Given the description of an element on the screen output the (x, y) to click on. 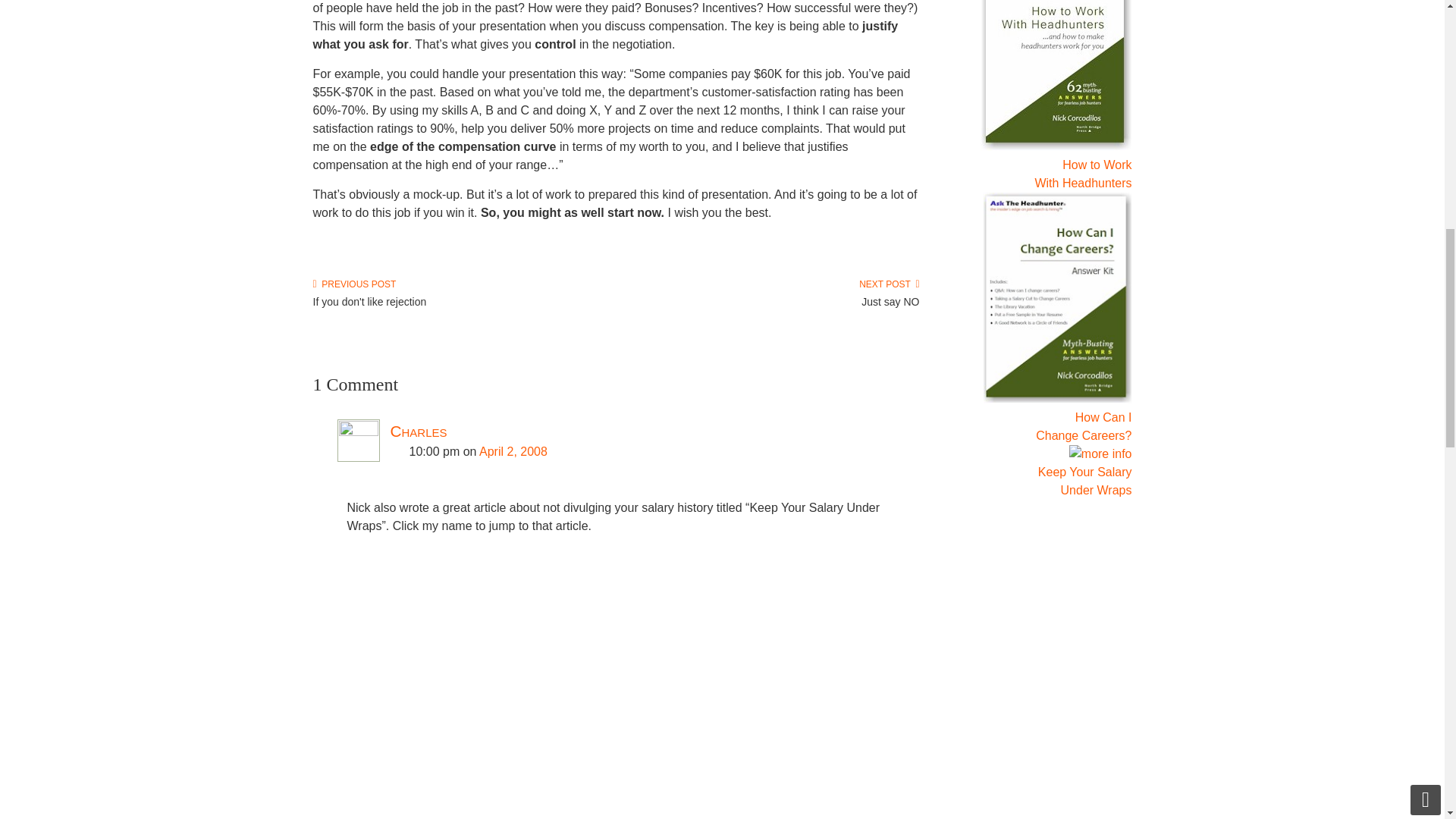
Go to previous post (354, 284)
